Given the description of an element on the screen output the (x, y) to click on. 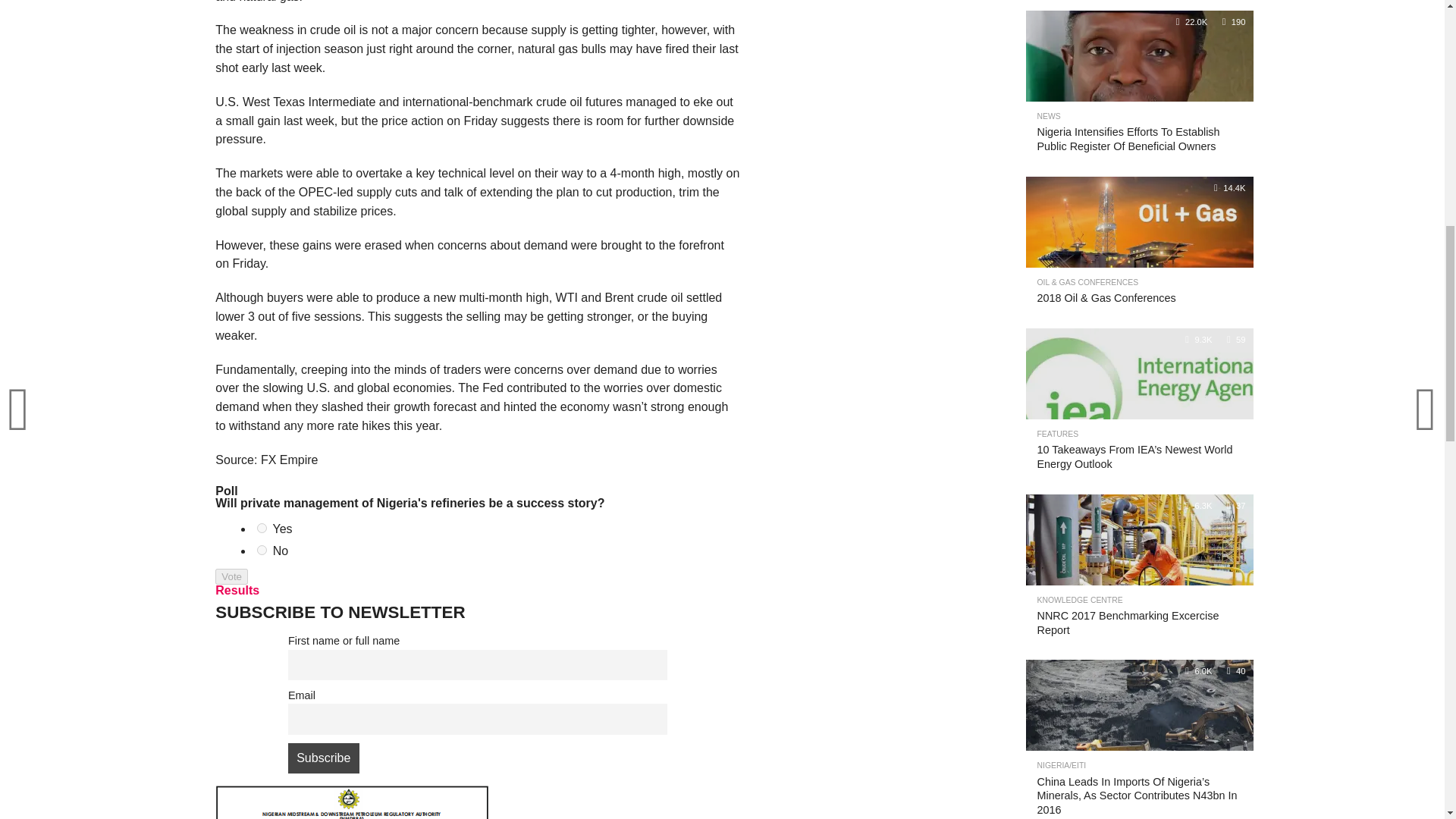
Vote (231, 576)
6 (261, 528)
NMDRPA (352, 802)
7 (261, 550)
Subscribe (323, 757)
